Given the description of an element on the screen output the (x, y) to click on. 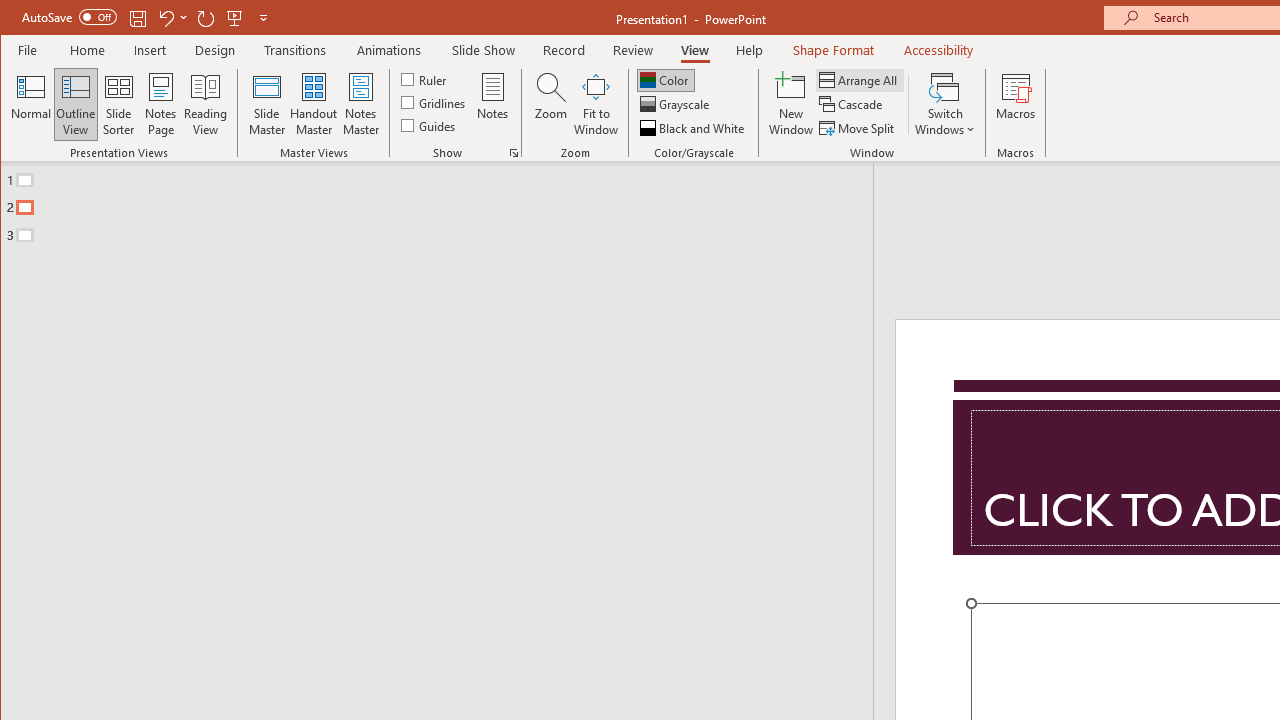
Outline (445, 203)
Grid Settings... (513, 152)
Outline View (75, 104)
Notes Page (160, 104)
Macros (1016, 104)
Switch Windows (944, 104)
Grayscale (676, 103)
Cascade (852, 103)
